Given the description of an element on the screen output the (x, y) to click on. 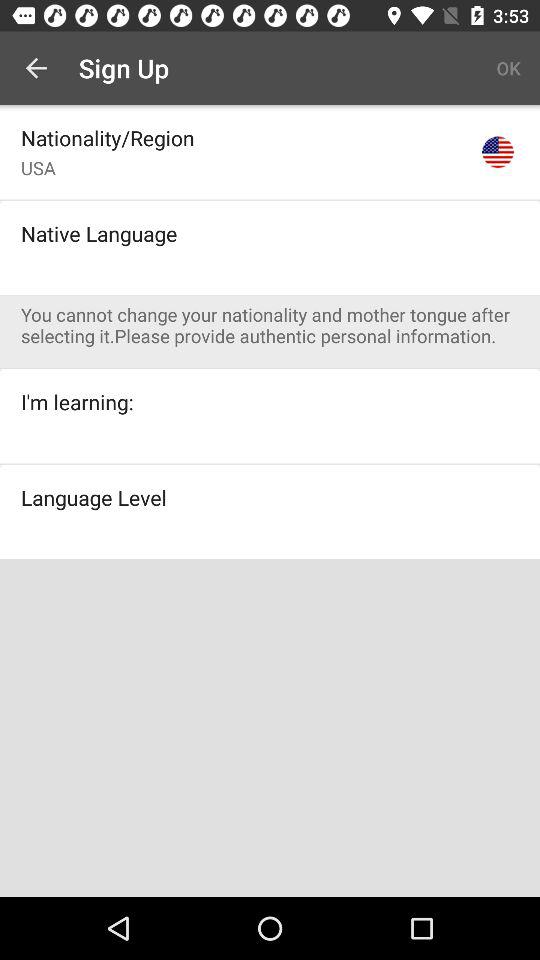
select icon above native language item (270, 199)
